Given the description of an element on the screen output the (x, y) to click on. 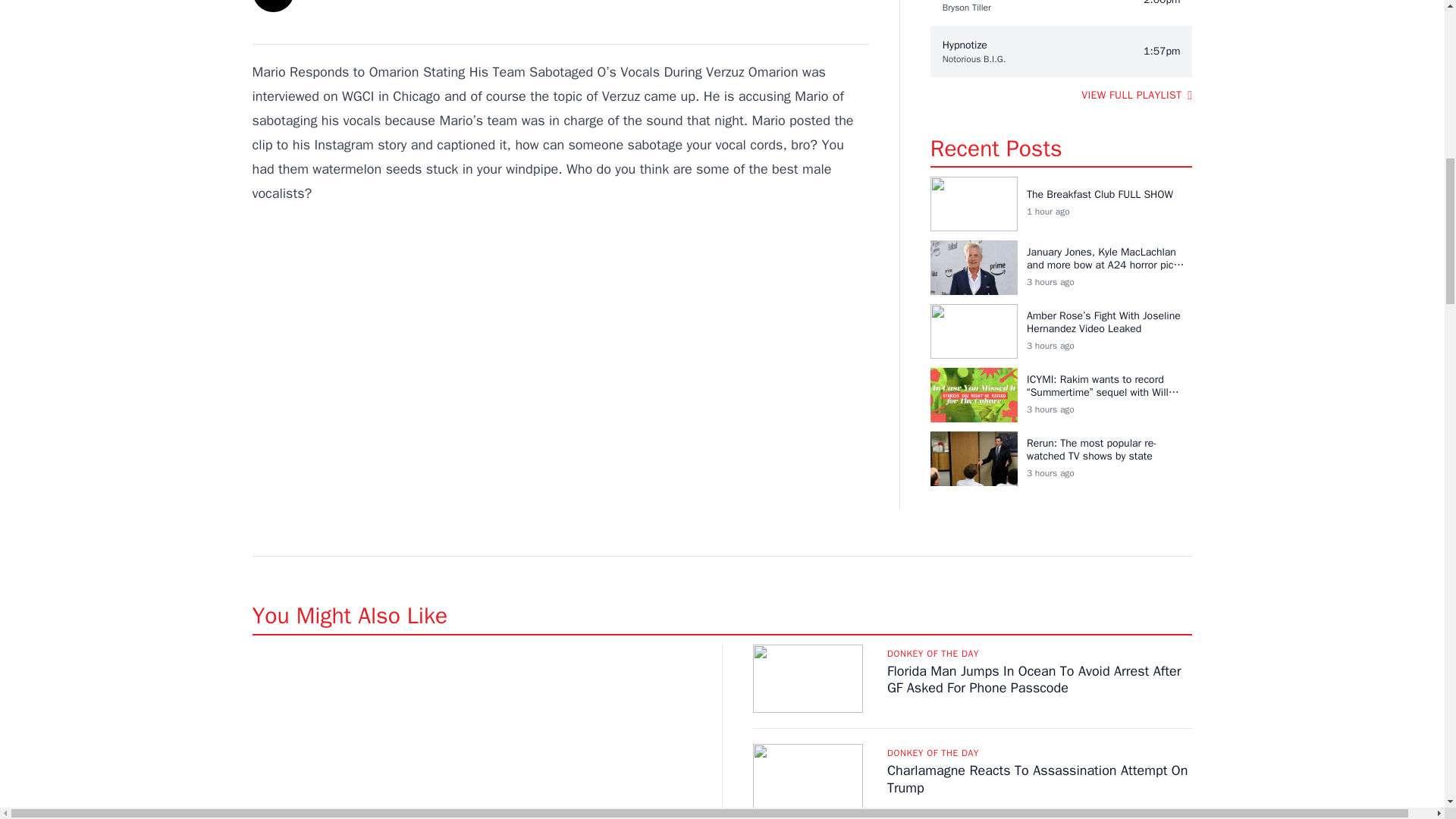
3rd party ad content (560, 330)
